Given the description of an element on the screen output the (x, y) to click on. 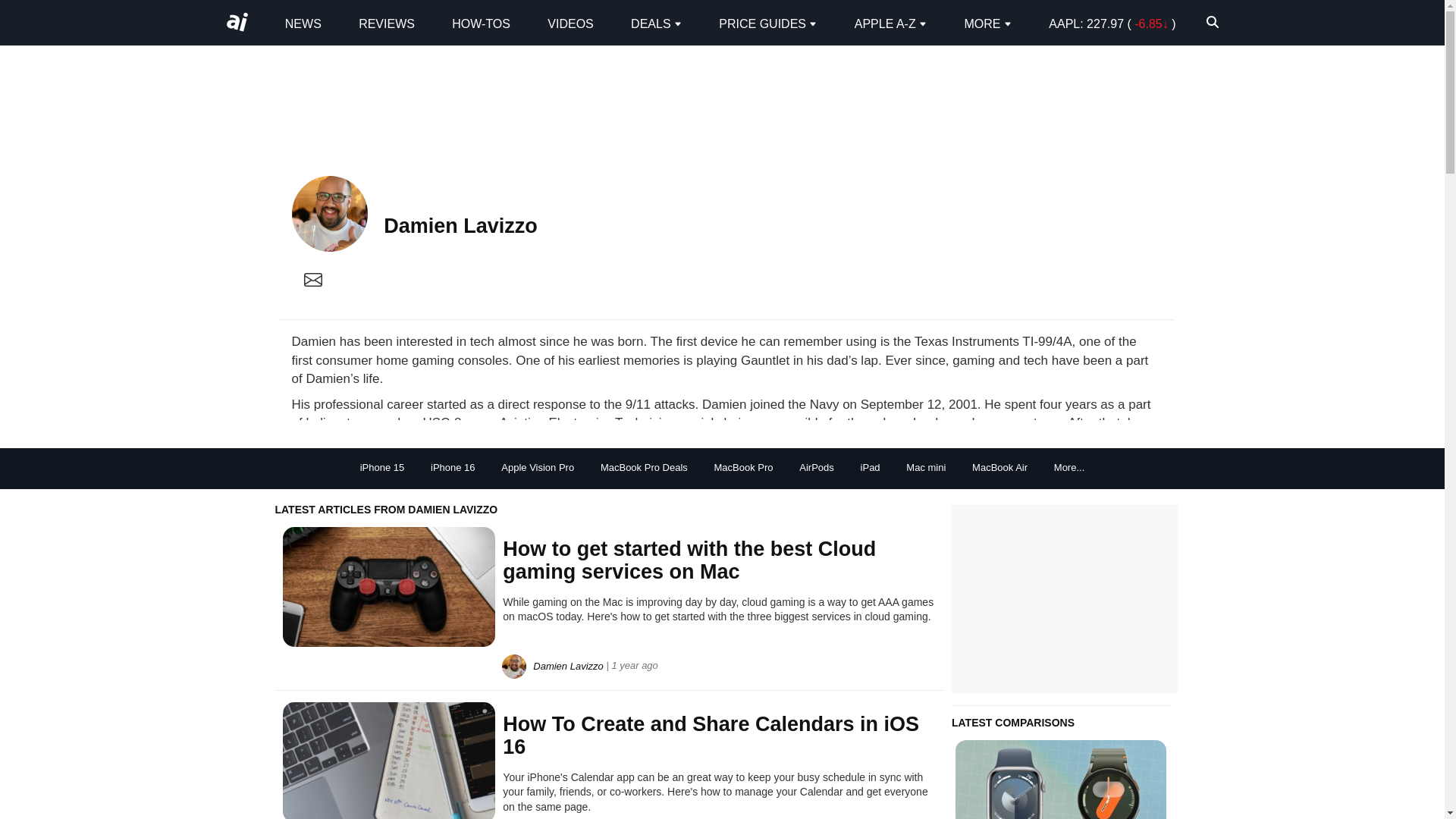
VIDEOS (569, 23)
News (303, 23)
How-Tos (481, 23)
NEWS (303, 23)
Reviews (386, 23)
Videos (569, 23)
HOW-TOS (481, 23)
REVIEWS (386, 23)
